Given the description of an element on the screen output the (x, y) to click on. 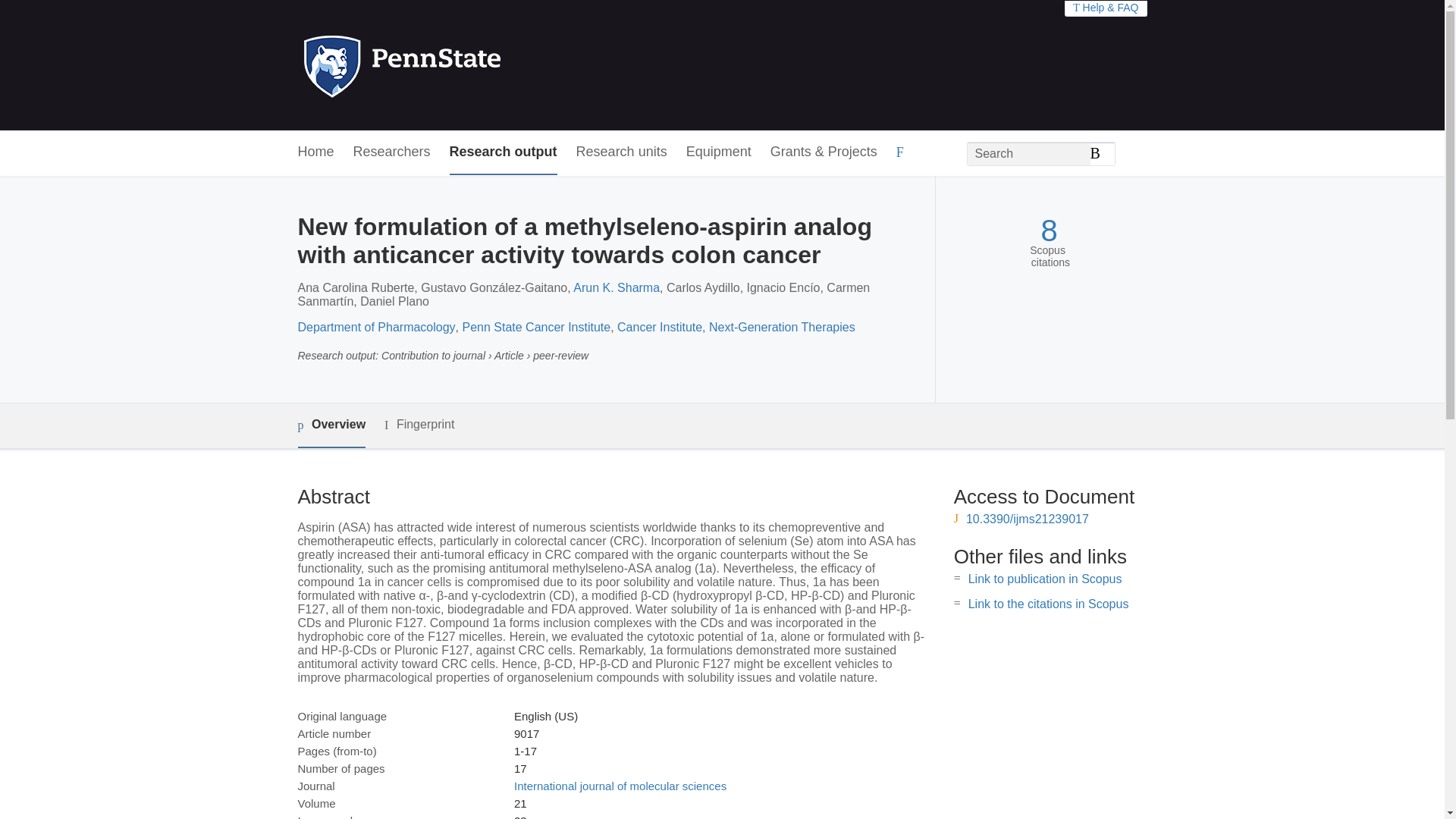
Penn State Home (467, 65)
Researchers (391, 152)
Arun K. Sharma (616, 287)
Link to the citations in Scopus (1048, 603)
Link to publication in Scopus (1045, 578)
Research units (621, 152)
International journal of molecular sciences (619, 785)
Cancer Institute, Next-Generation Therapies (736, 327)
Department of Pharmacology (375, 327)
